Given the description of an element on the screen output the (x, y) to click on. 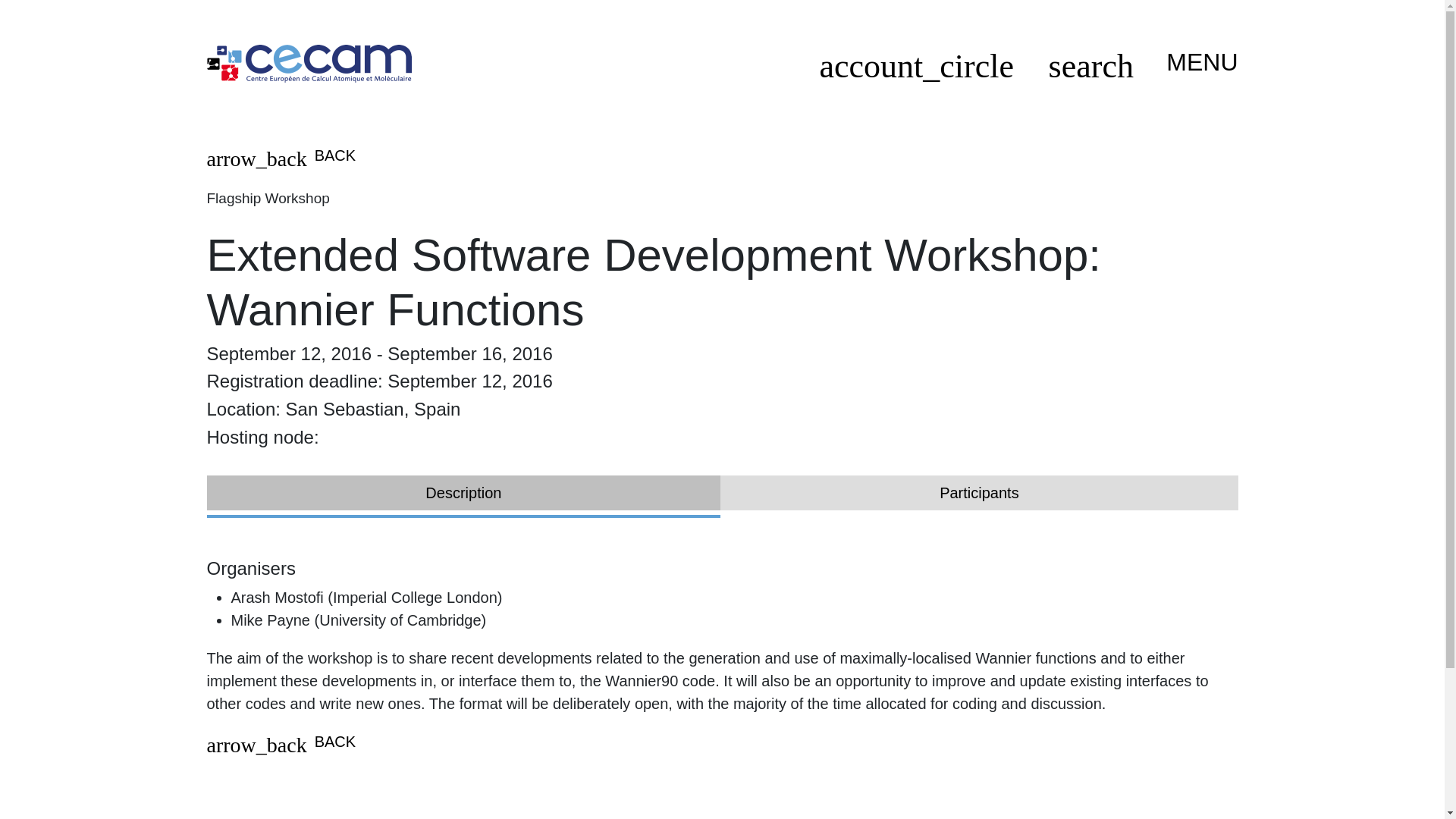
Description (463, 492)
search (1091, 71)
Participants (978, 492)
MENU (1195, 62)
